Given the description of an element on the screen output the (x, y) to click on. 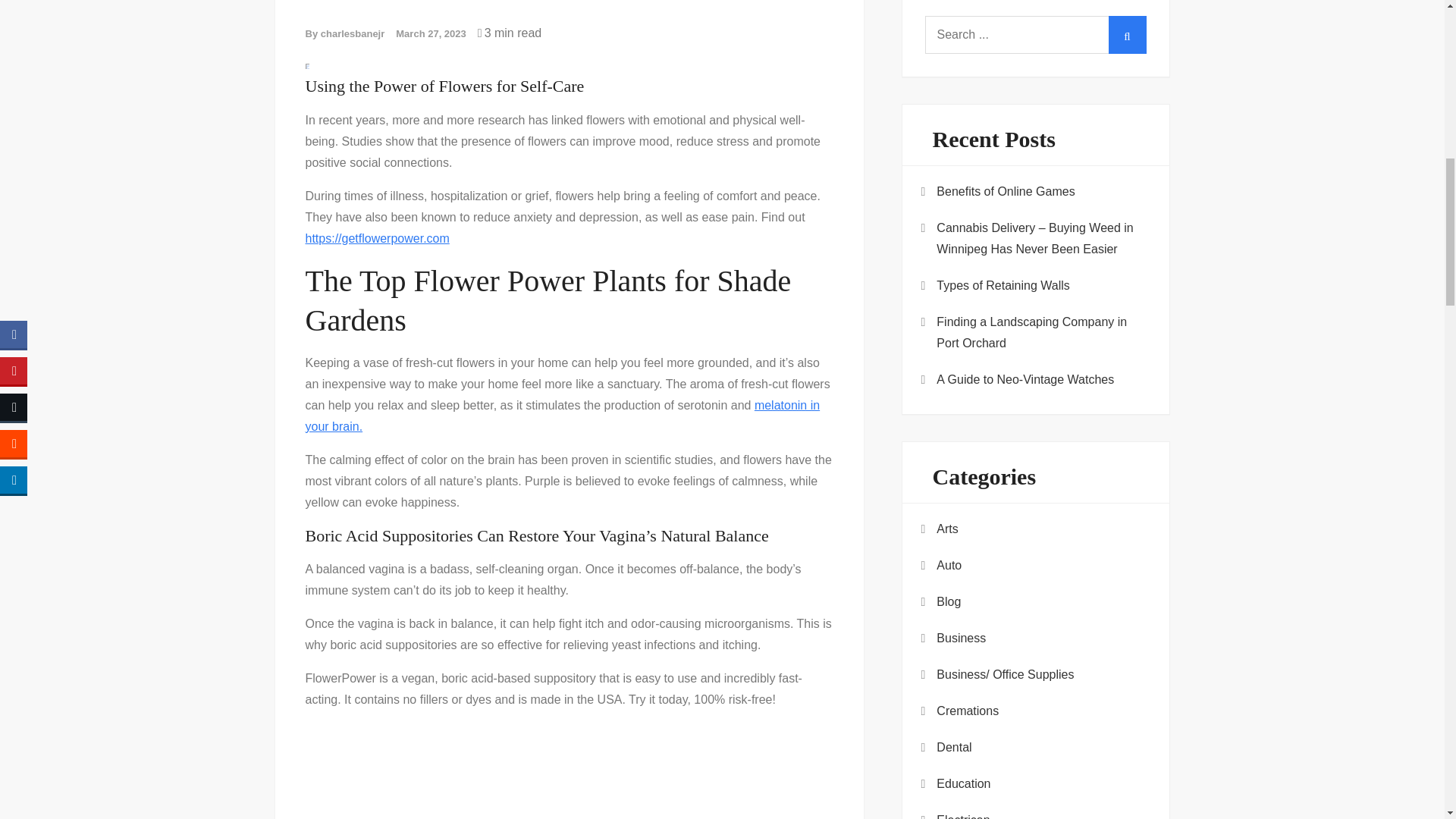
Electrican (963, 814)
Business (960, 638)
Arts (947, 528)
Auto (948, 565)
Benefits of Online Games (1005, 191)
Cremations (967, 711)
March 27, 2023 (430, 33)
A Guide to Neo-Vintage Watches (1024, 379)
Dental (953, 747)
charlesbanejr (352, 33)
